Given the description of an element on the screen output the (x, y) to click on. 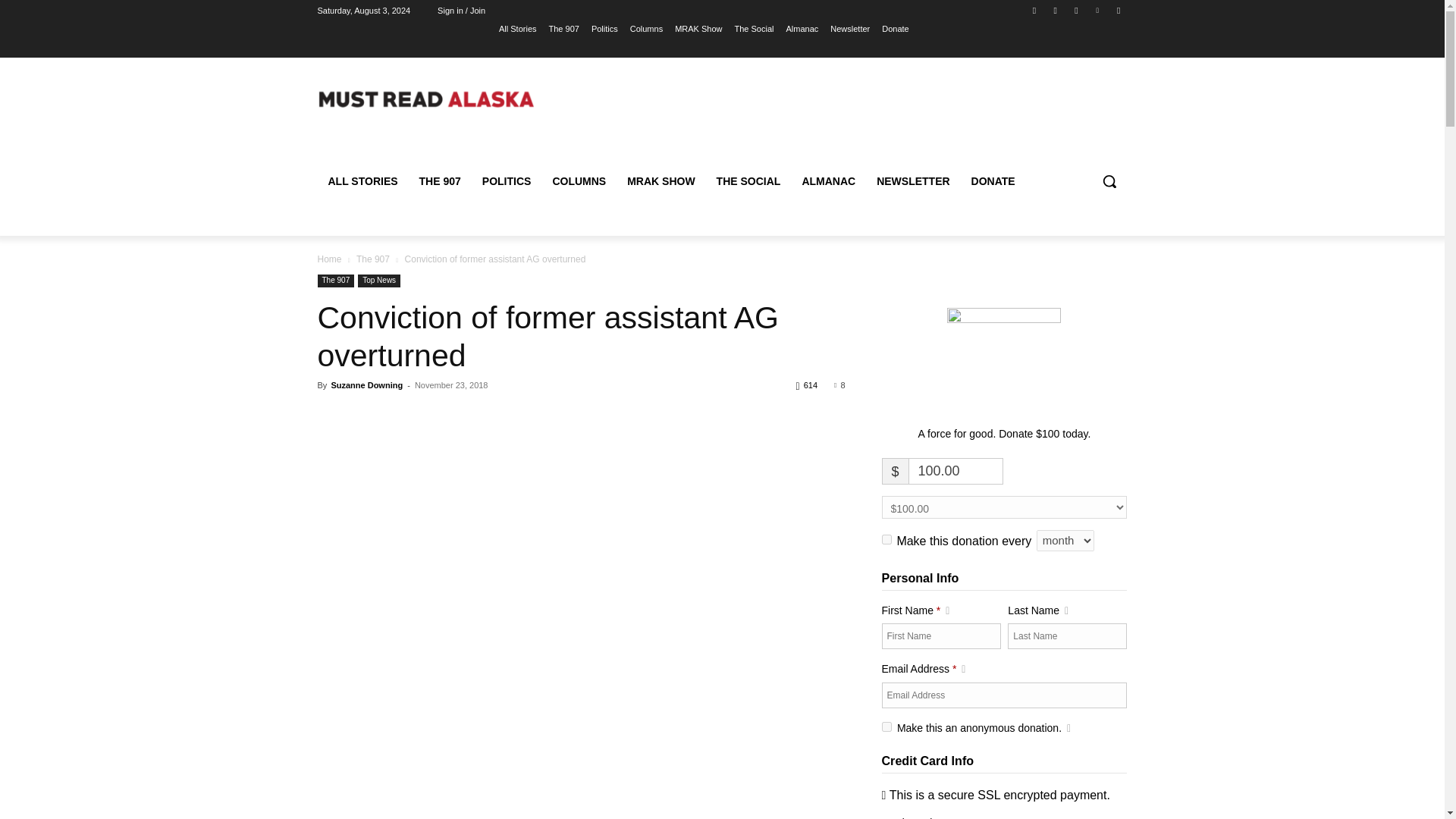
THE SOCIAL (749, 180)
Vimeo (1097, 9)
Columns (578, 180)
1 (885, 726)
100.00 (955, 470)
on (885, 539)
Twitter (1075, 9)
Sign up now for our newsletter (912, 180)
The 907 (563, 28)
ALL STORIES (362, 180)
Instagram (1055, 9)
Youtube (1117, 9)
DONATE (993, 180)
Almanac (802, 28)
MRAK Show (698, 28)
